Given the description of an element on the screen output the (x, y) to click on. 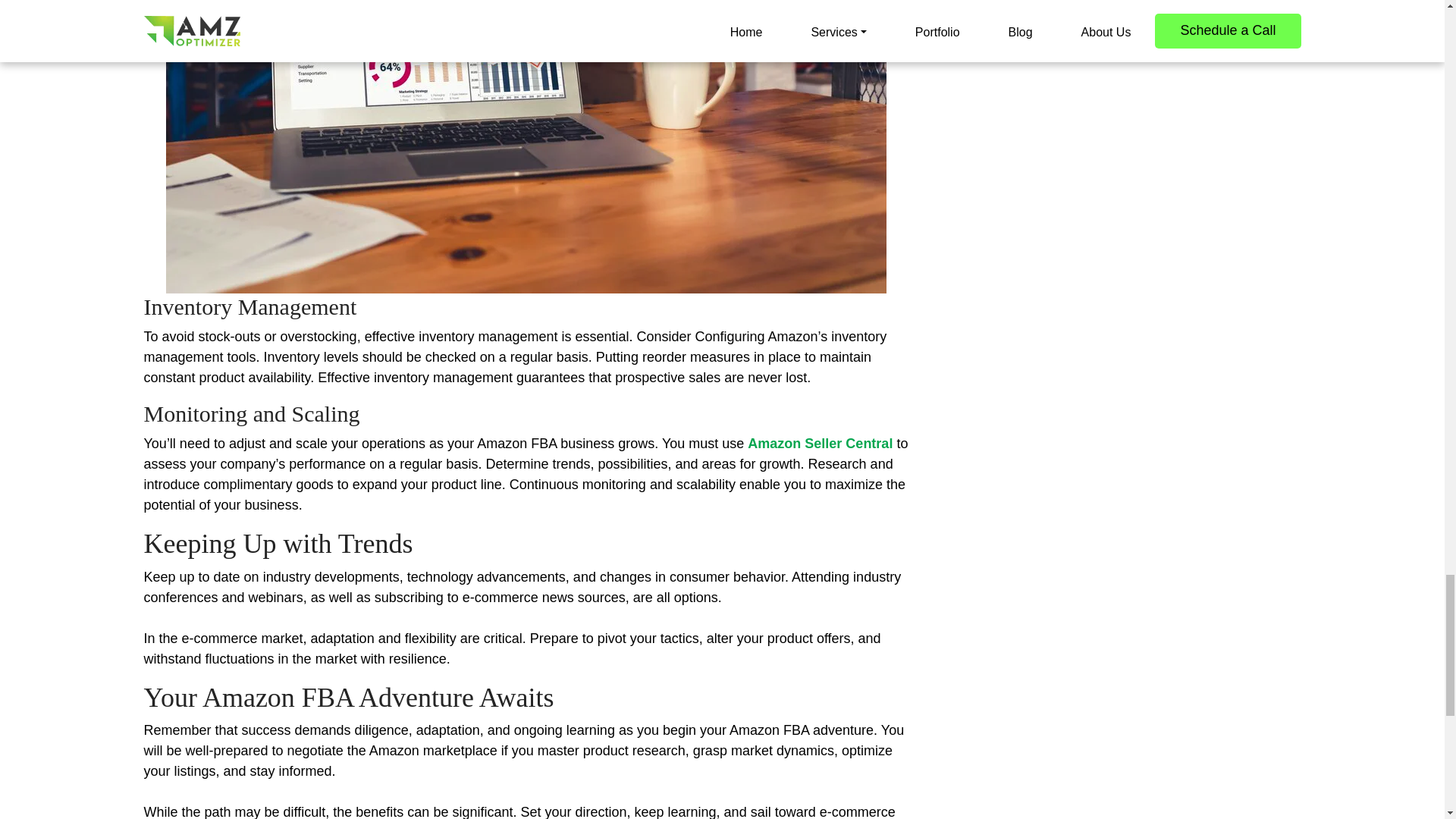
Amazon Seller Central (820, 443)
